Given the description of an element on the screen output the (x, y) to click on. 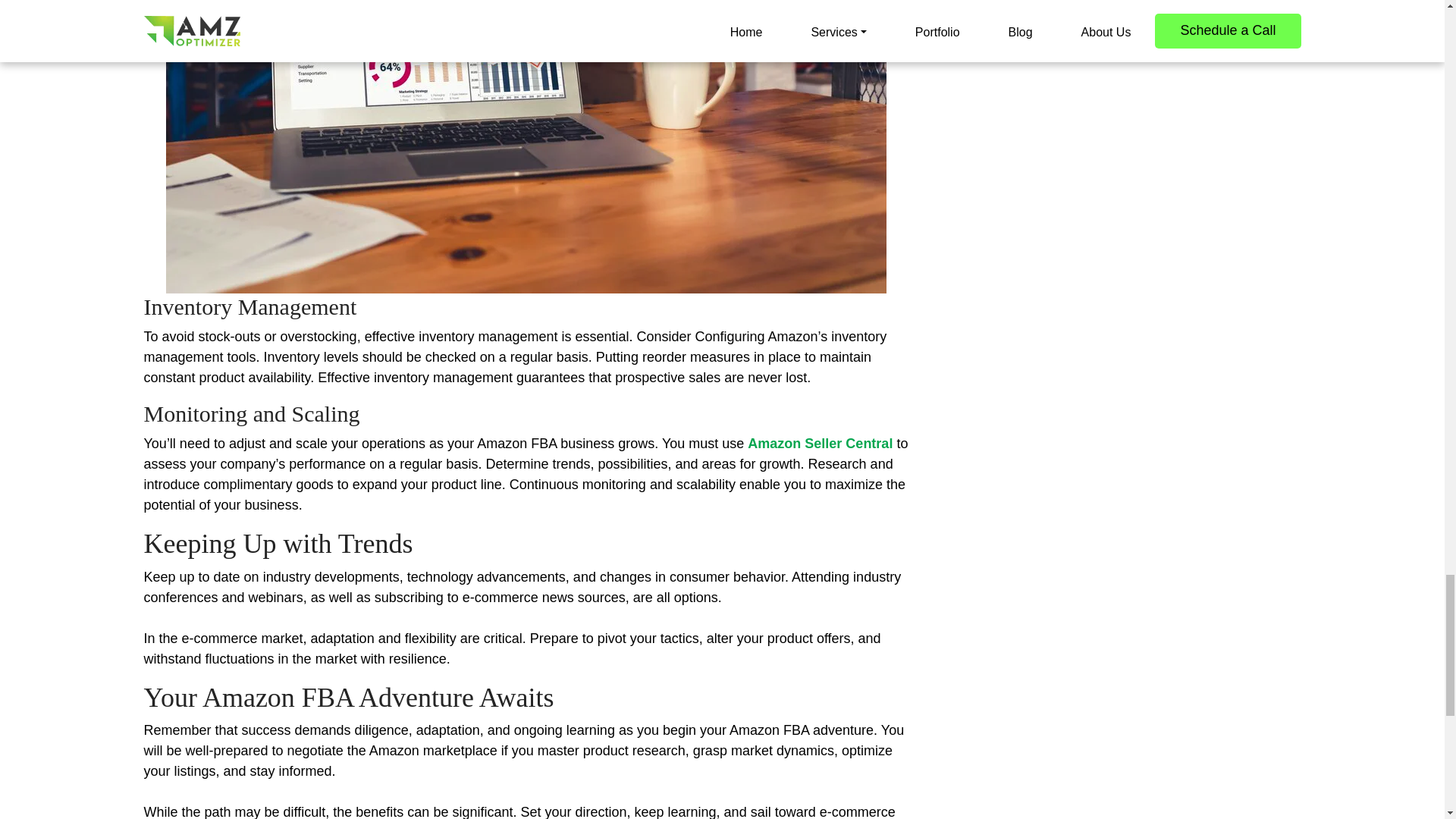
Amazon Seller Central (820, 443)
